Given the description of an element on the screen output the (x, y) to click on. 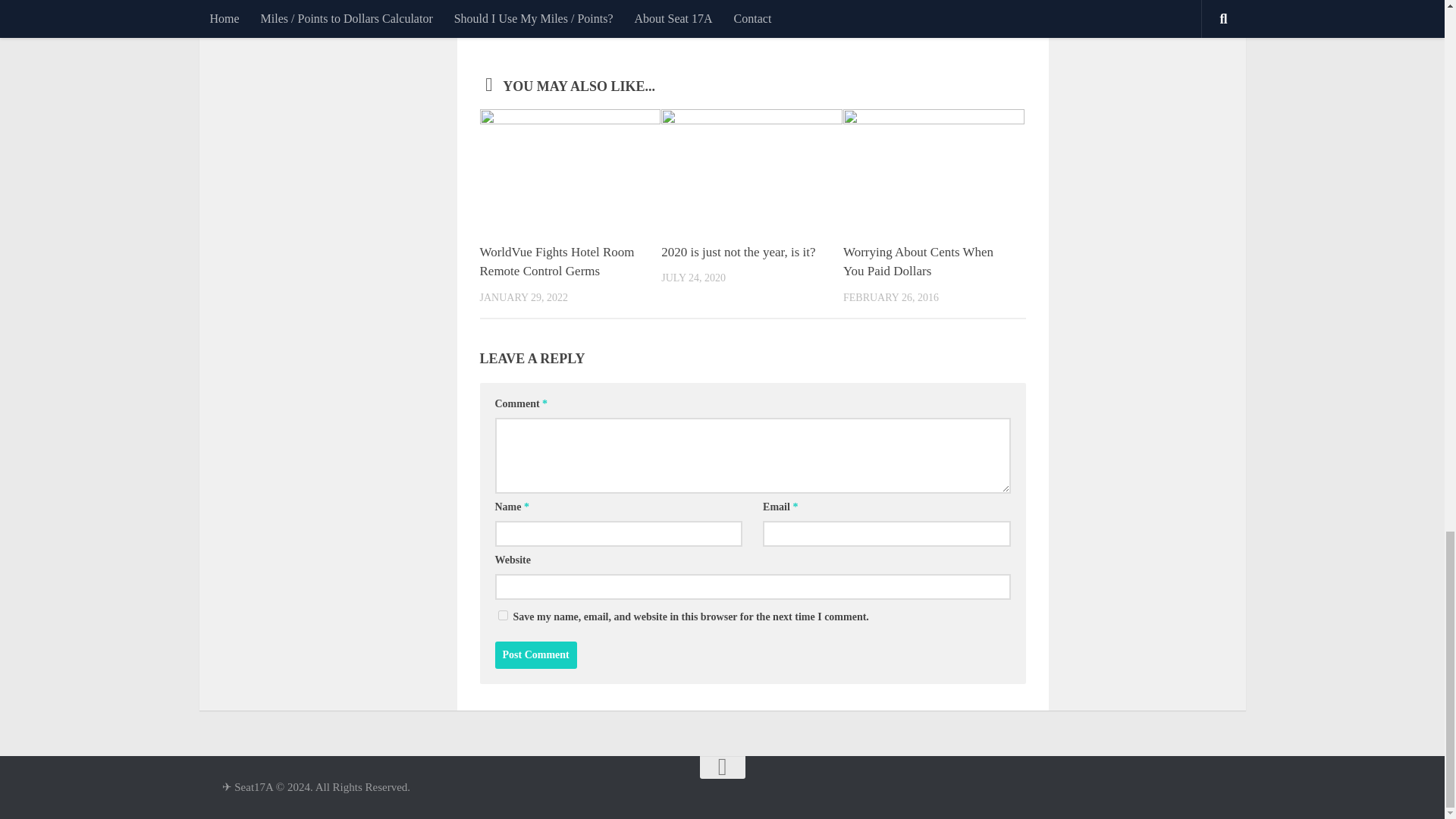
Post Comment (535, 655)
2020 is just not the year, is it? (738, 251)
Post Comment (535, 655)
WorldVue Fights Hotel Room Remote Control Germs (556, 261)
yes (501, 614)
Worrying About Cents When You Paid Dollars (917, 261)
